Given the description of an element on the screen output the (x, y) to click on. 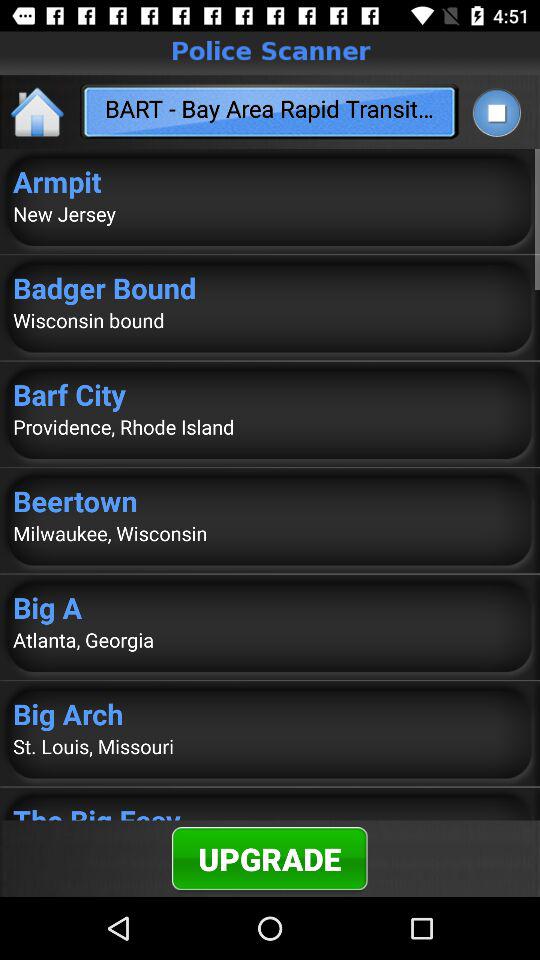
open badger bound (269, 287)
